Given the description of an element on the screen output the (x, y) to click on. 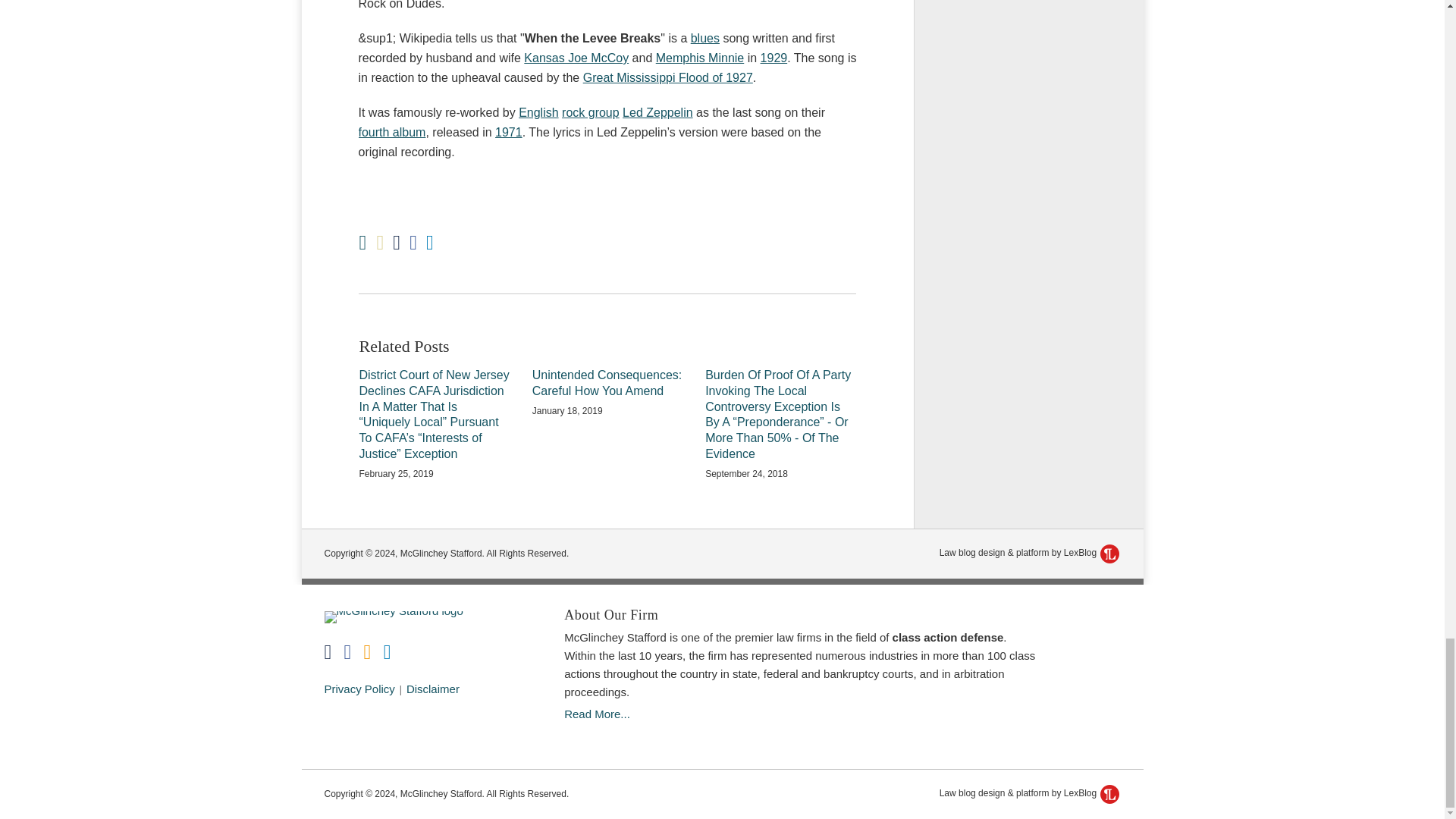
Unintended Consequences: Careful How You Amend (607, 383)
1929 (773, 57)
Led Zeppelin (658, 112)
Led Zeppelin (658, 112)
Great Mississippi Flood of 1927 (667, 77)
England (537, 112)
Led Zeppelin IV (391, 132)
Blues (704, 38)
Memphis Minnie (700, 57)
Kansas Joe McCoy (576, 57)
LexBlog Logo (1109, 793)
rock group (591, 112)
English (537, 112)
Kansas Joe McCoy (576, 57)
1971 (508, 132)
